Given the description of an element on the screen output the (x, y) to click on. 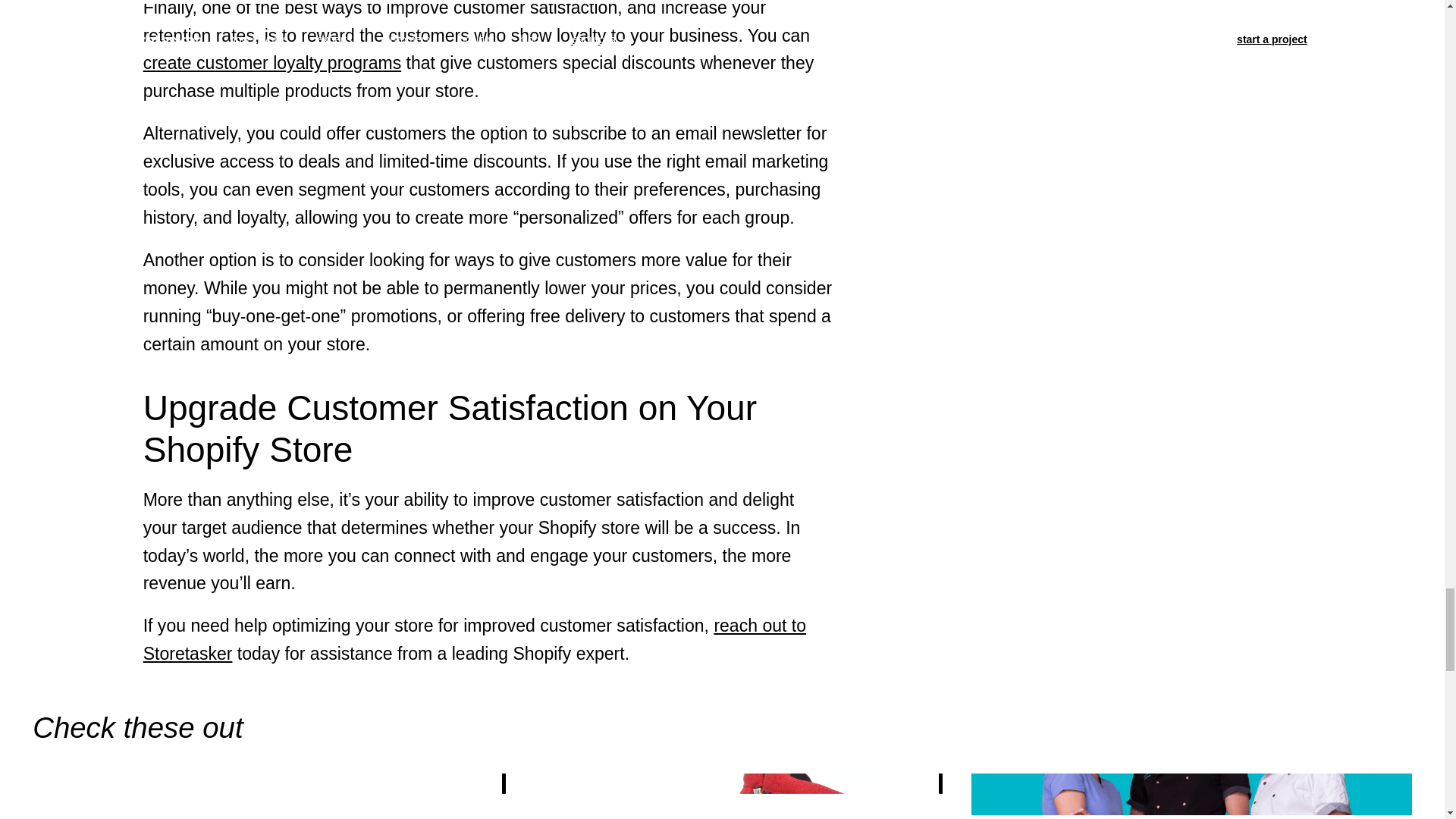
create customer loyalty programs (271, 62)
reach out to Storetasker (474, 639)
